Given the description of an element on the screen output the (x, y) to click on. 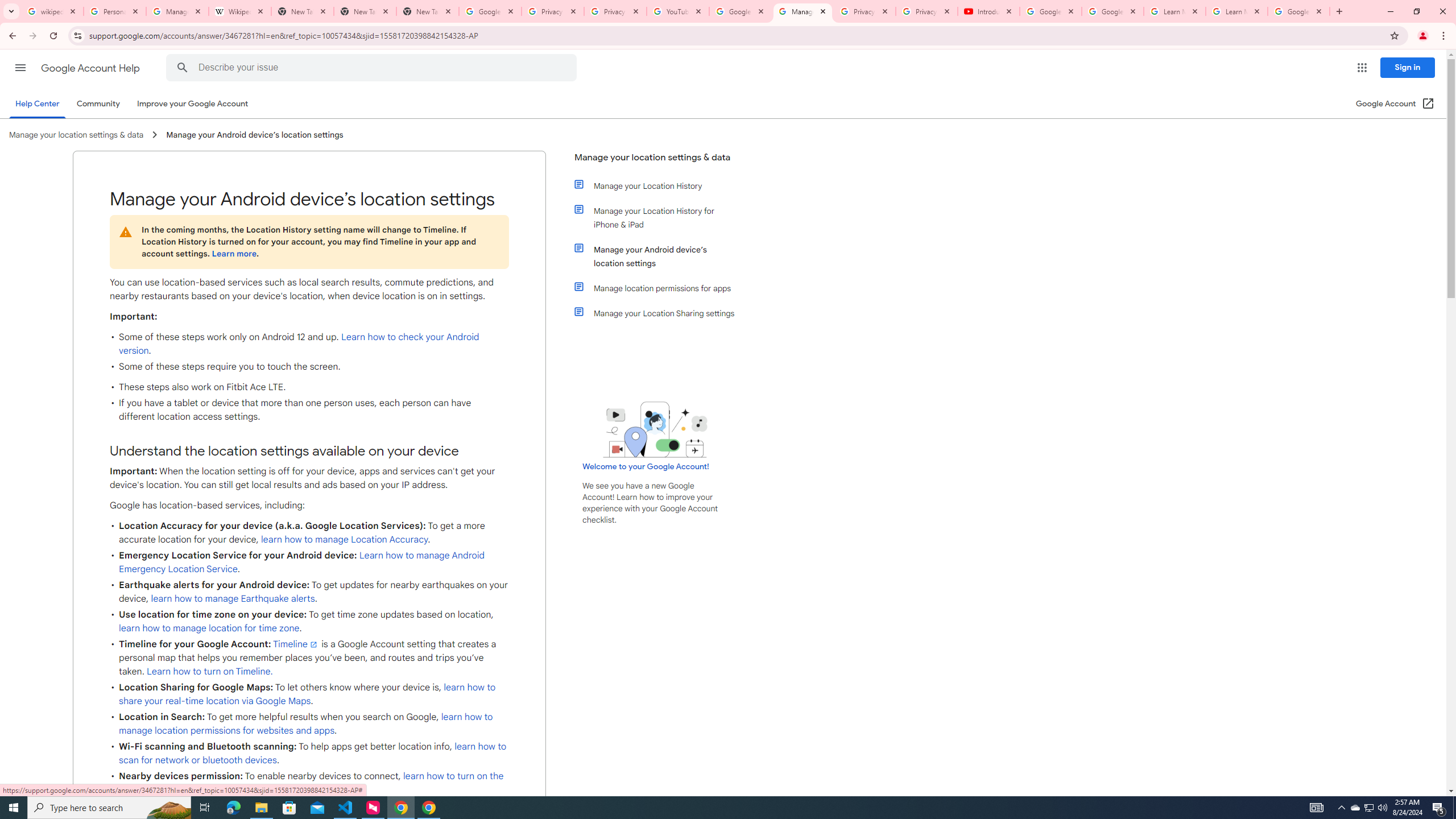
learn how to share your real-time location via Google Maps (307, 694)
Google Drive: Sign-in (490, 11)
New Tab (365, 11)
Describe your issue (373, 67)
Manage your Location History - Google Search Help (177, 11)
Google Account Help (91, 68)
Learn more (233, 253)
Manage your Location History for iPhone & iPad (661, 217)
Learn how to check your Android version (299, 343)
Learn how to turn on Timeline. (210, 671)
